Given the description of an element on the screen output the (x, y) to click on. 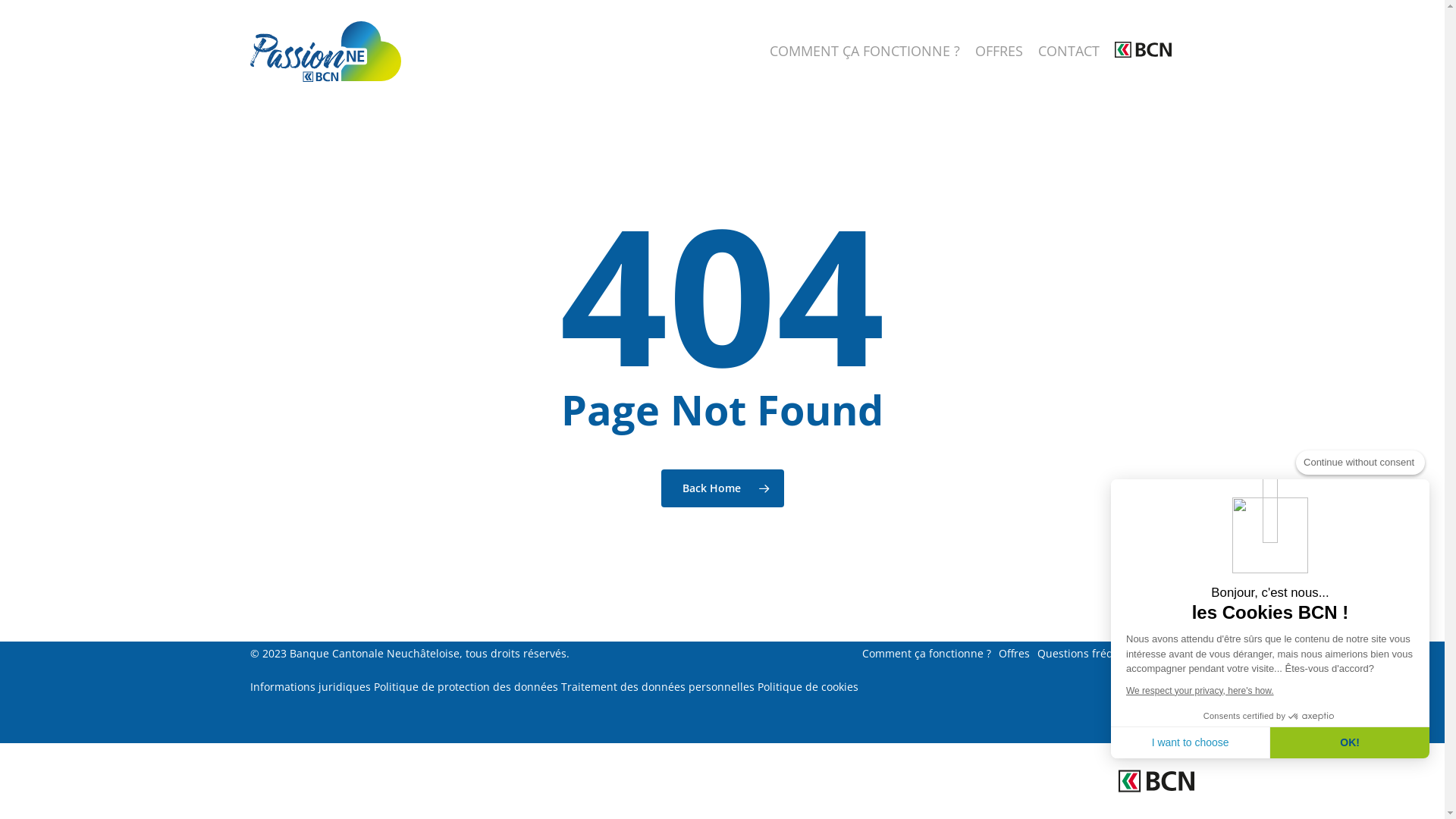
Informations juridiques Element type: text (310, 686)
Back Home Element type: text (722, 487)
CONTACT Element type: text (1068, 50)
Contact Element type: text (1174, 653)
OFFRES Element type: text (998, 50)
Politique de cookies Element type: text (807, 686)
Offres Element type: text (1013, 653)
